Given the description of an element on the screen output the (x, y) to click on. 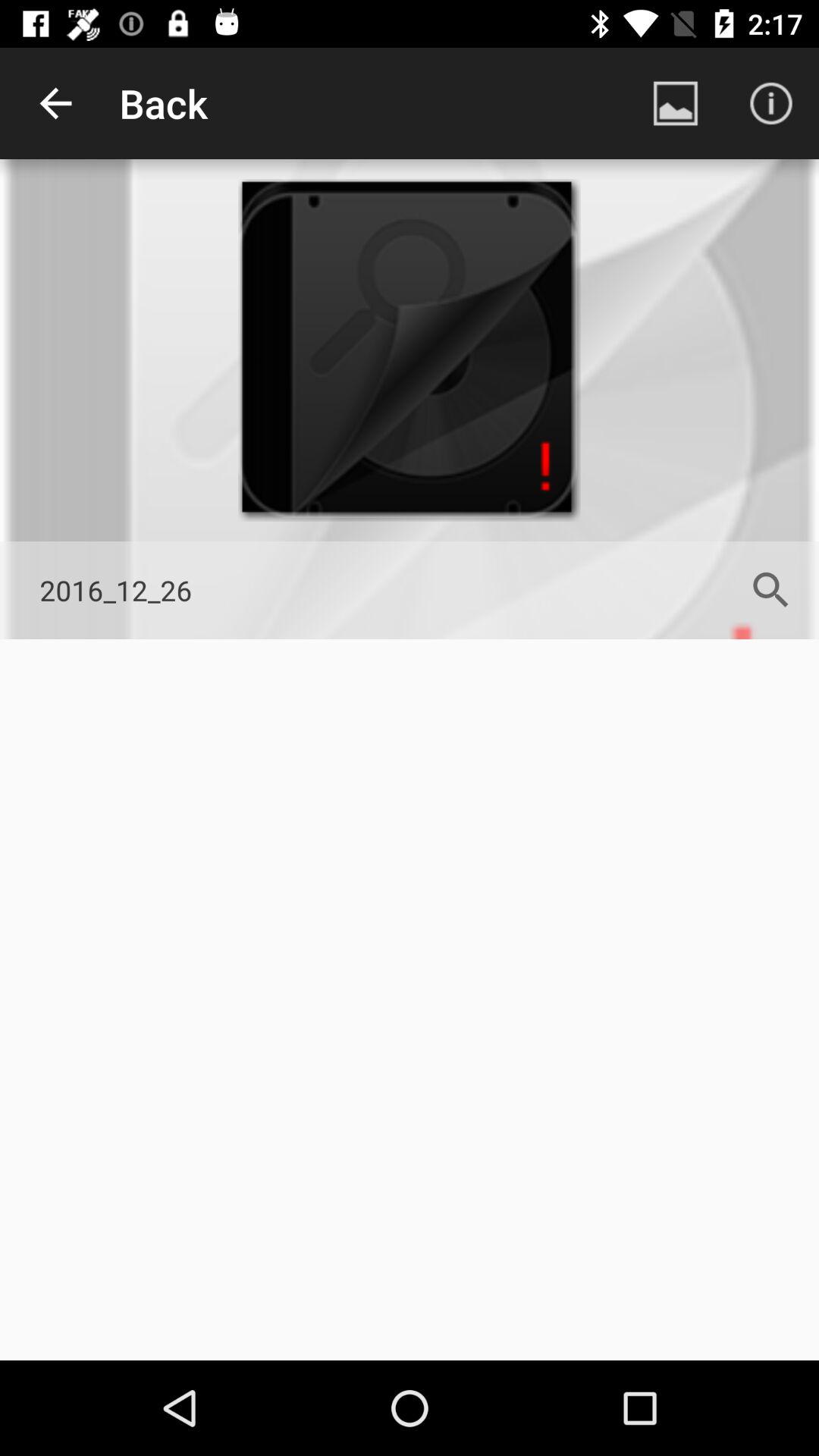
turn on icon next to the 2016_12_26 (771, 590)
